Given the description of an element on the screen output the (x, y) to click on. 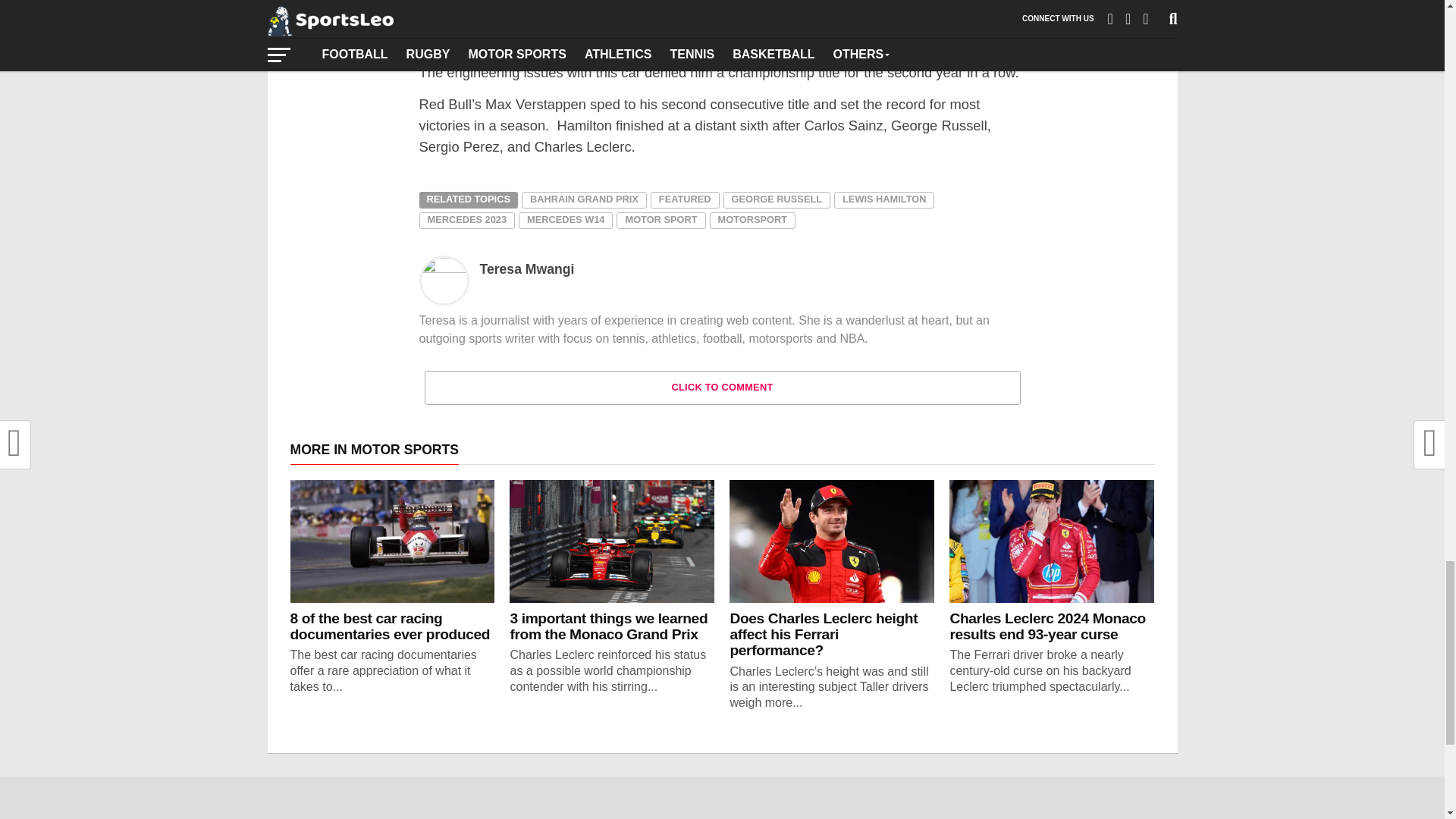
Posts by Teresa Mwangi (526, 268)
